Given the description of an element on the screen output the (x, y) to click on. 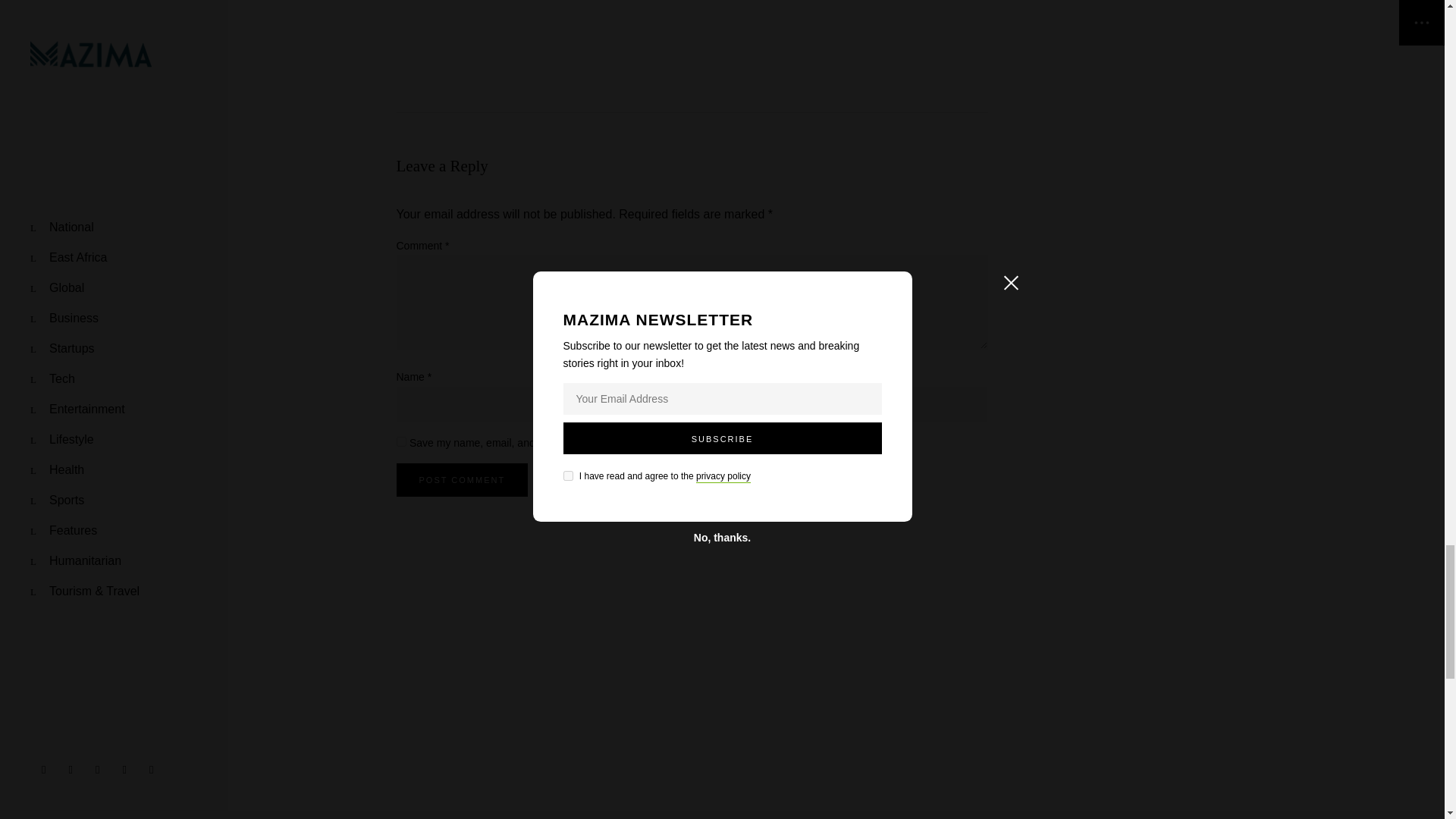
Post Comment (461, 479)
yes (401, 441)
